Given the description of an element on the screen output the (x, y) to click on. 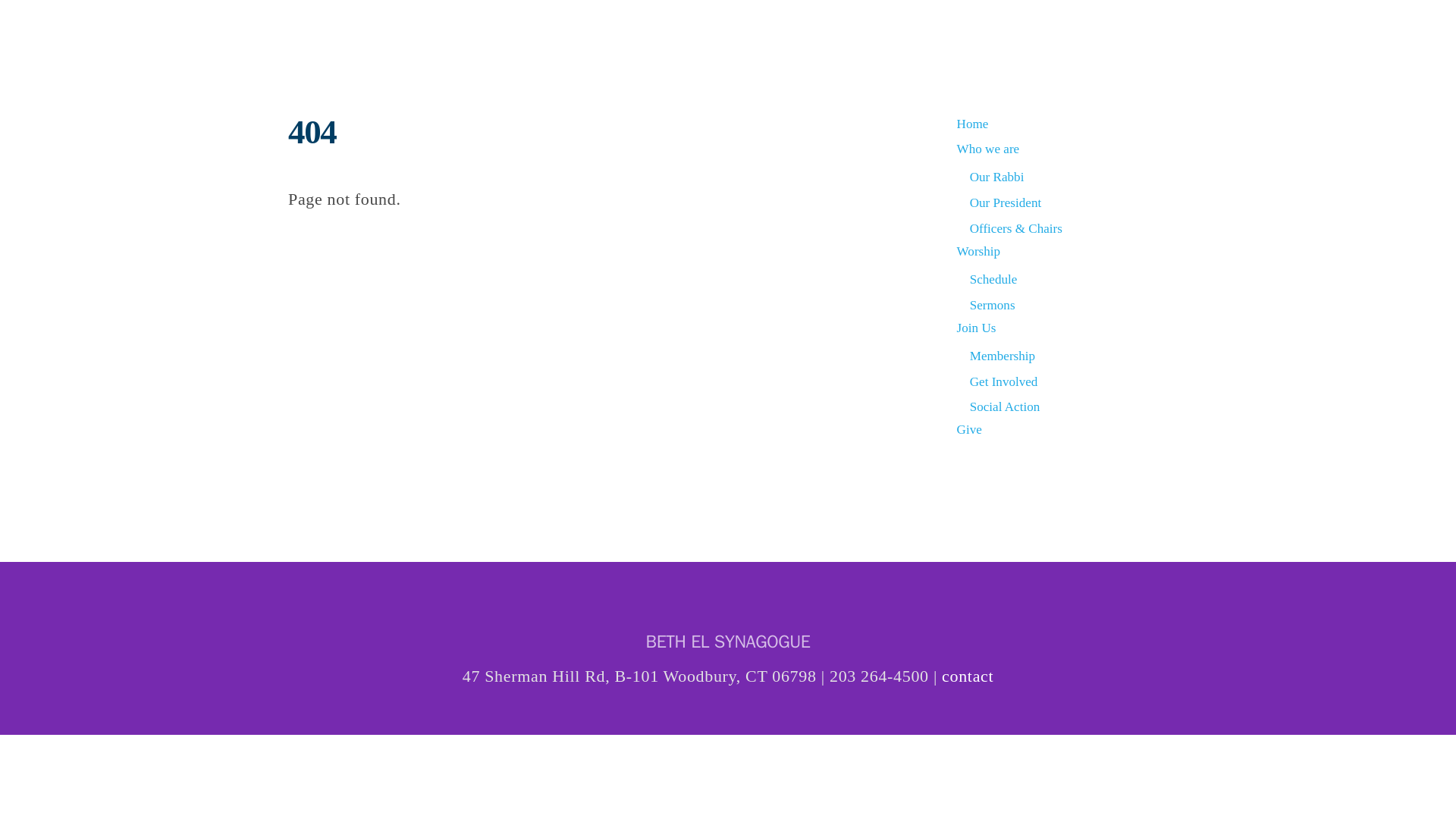
Home (972, 124)
Get Involved (1003, 381)
Schedule (993, 278)
HOME (787, 30)
Give (968, 429)
Our President (1005, 202)
WORSHIP (976, 30)
Who we are (988, 148)
Sermons (991, 305)
JOIN US (1059, 30)
